Given the description of an element on the screen output the (x, y) to click on. 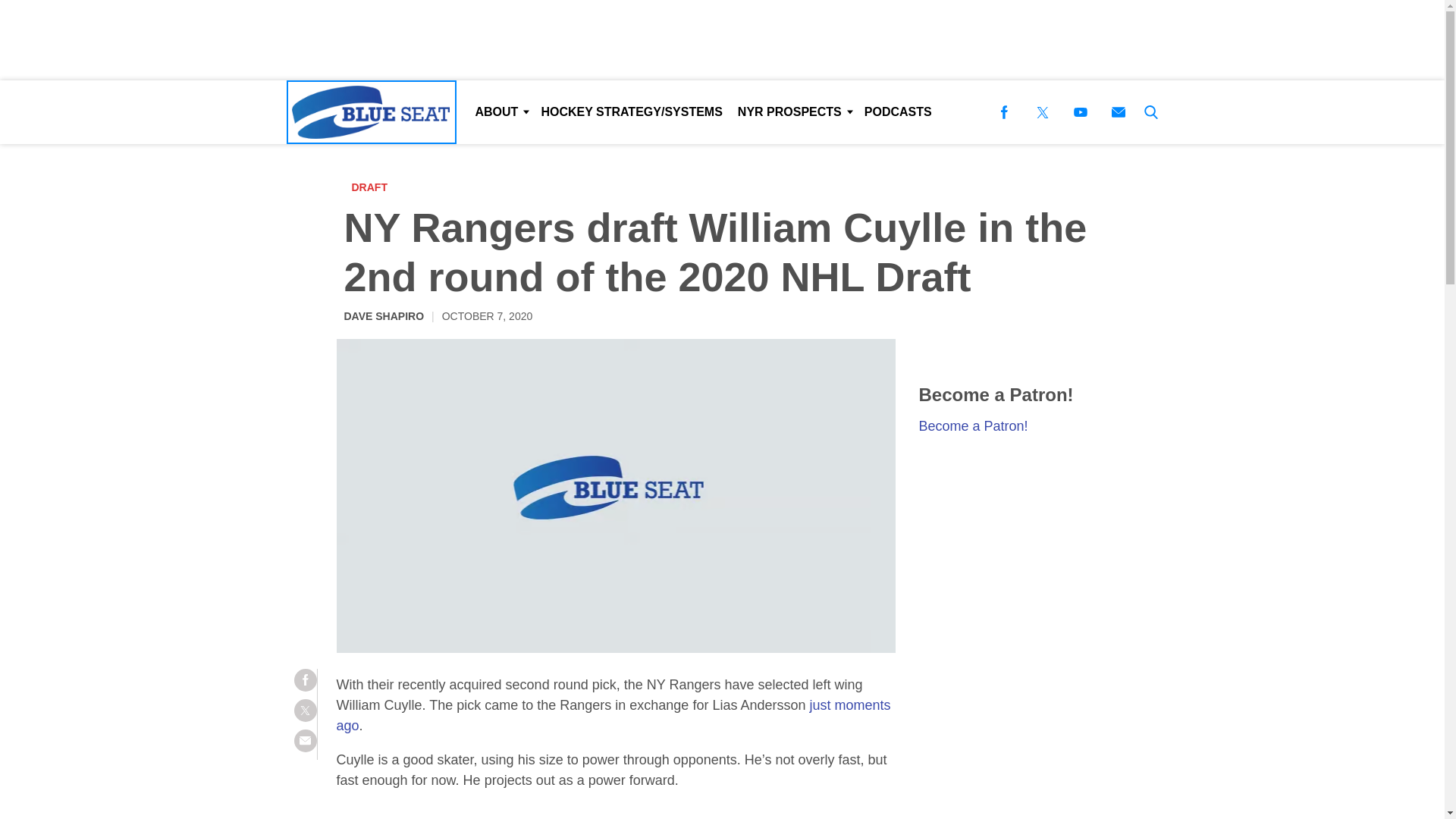
PODCASTS (898, 112)
NYR PROSPECTS (793, 112)
Share on Twitter (305, 710)
just moments ago (613, 715)
Share via Email (305, 740)
DRAFT (373, 187)
Posts by Dave Shapiro (384, 315)
DAVE SHAPIRO (384, 315)
Share on Facebook (305, 680)
ABOUT (499, 112)
